Given the description of an element on the screen output the (x, y) to click on. 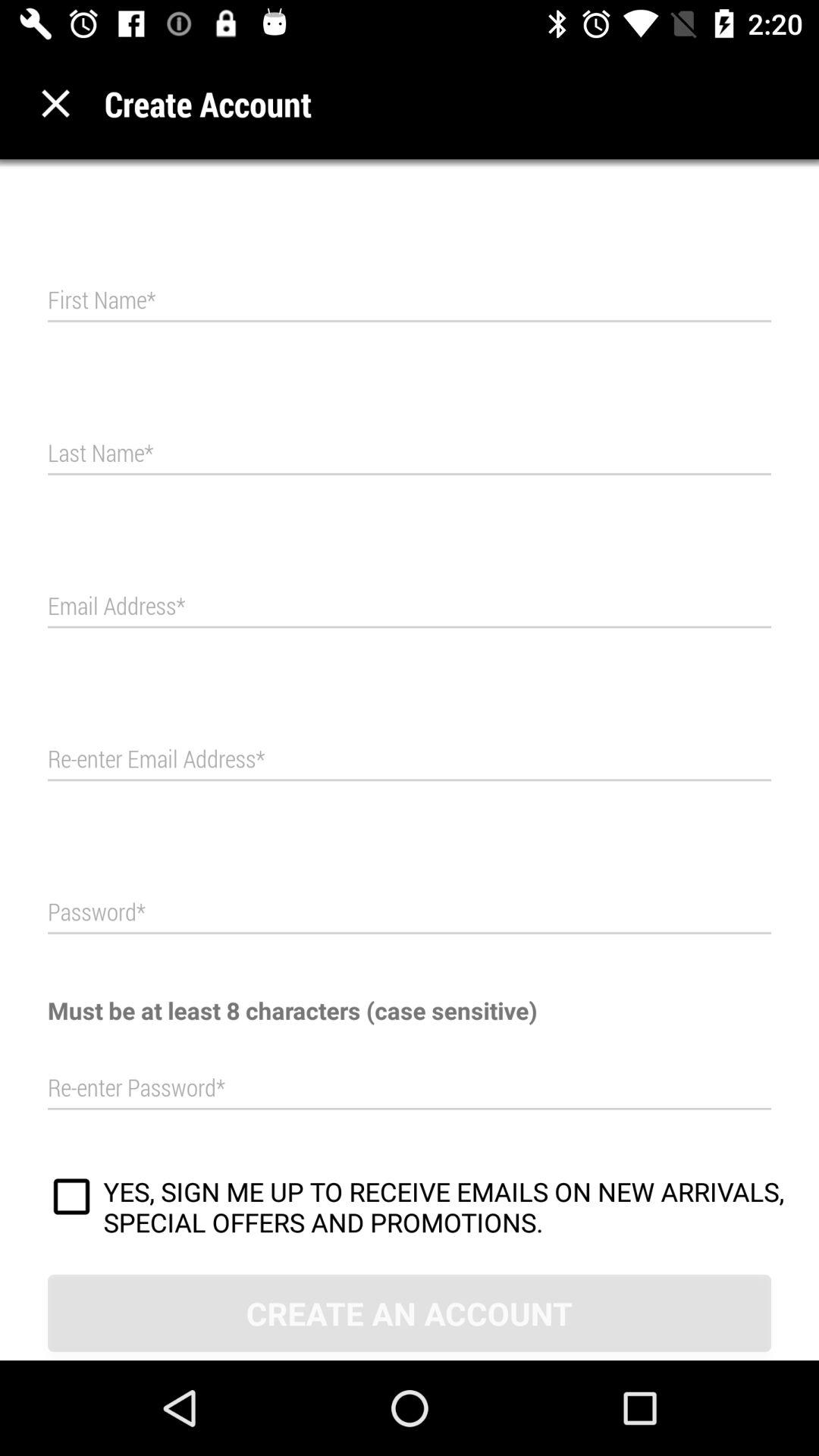
press the icon to the left of the yes sign me item (71, 1198)
